Given the description of an element on the screen output the (x, y) to click on. 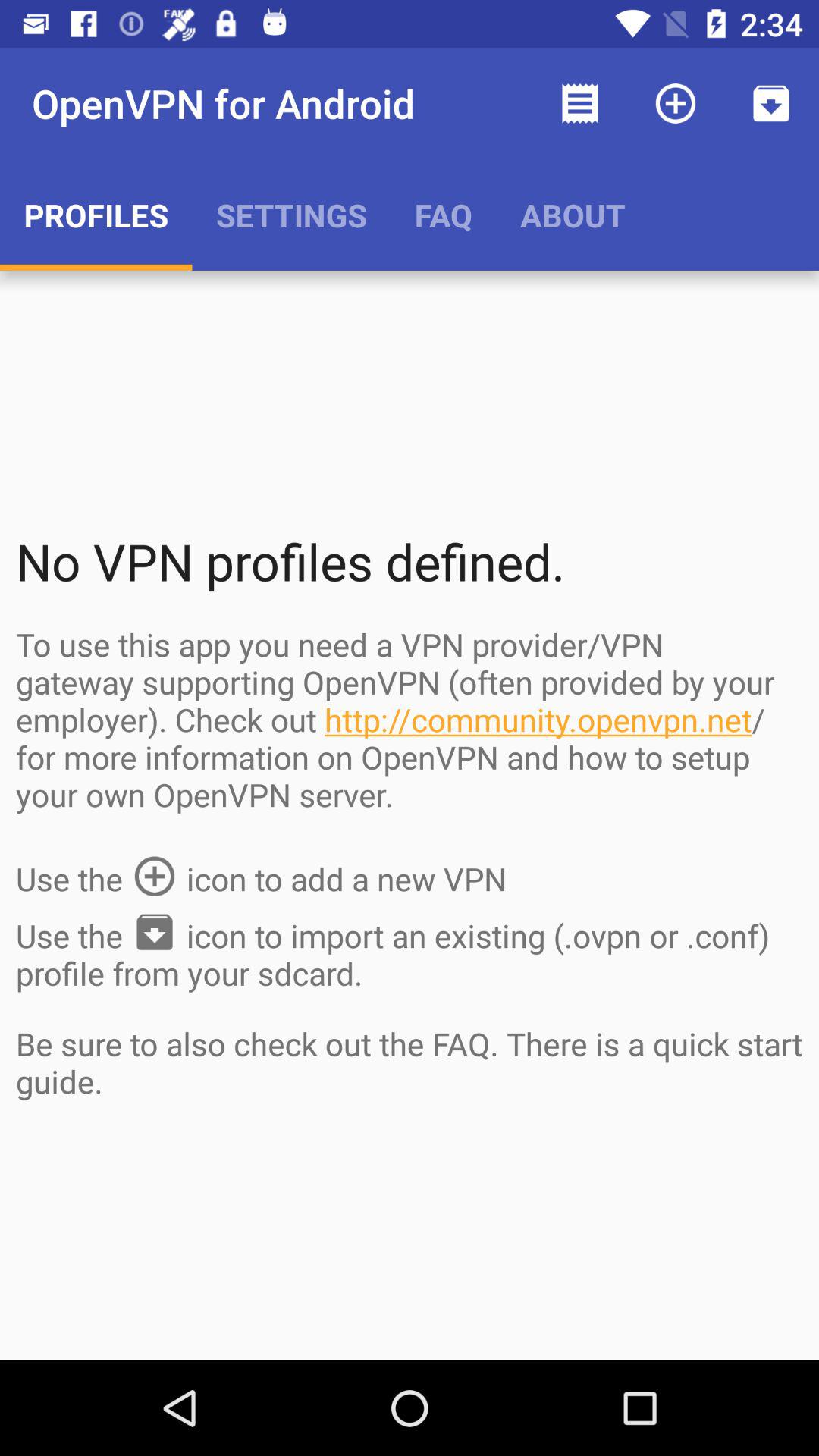
launch icon below openvpn for android item (291, 214)
